Given the description of an element on the screen output the (x, y) to click on. 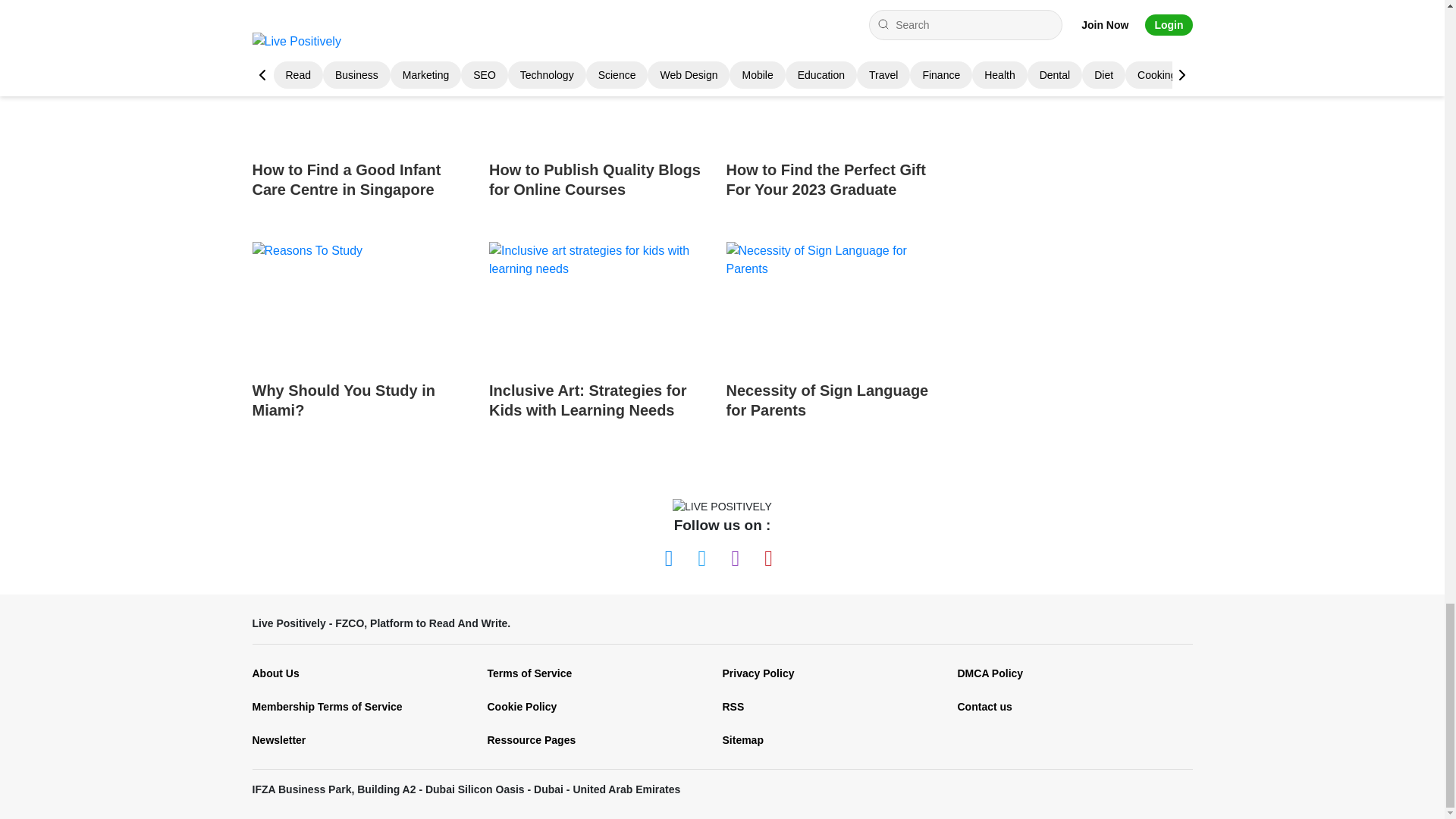
How to Publish Quality Blogs for Online Courses  (601, 124)
Reasons To Study (364, 304)
Why Should You Study in Miami? (364, 343)
How to Find the Perfect Gift For Your 2023 Graduate (839, 124)
Necessity of Sign Language for Parents (839, 304)
Inclusive Art: Strategies for Kids with Learning Needs (601, 343)
Online Course (601, 85)
Necessity of Sign Language for Parents (839, 343)
How to Find the Perfect Gift For Your 2023 Graduate (839, 85)
 Inclusive art strategies for kids with learning needs (601, 304)
How to Find a Good Infant Care Centre in Singapore (364, 85)
How to Find a Good Infant Care Centre in Singapore (364, 124)
